Given the description of an element on the screen output the (x, y) to click on. 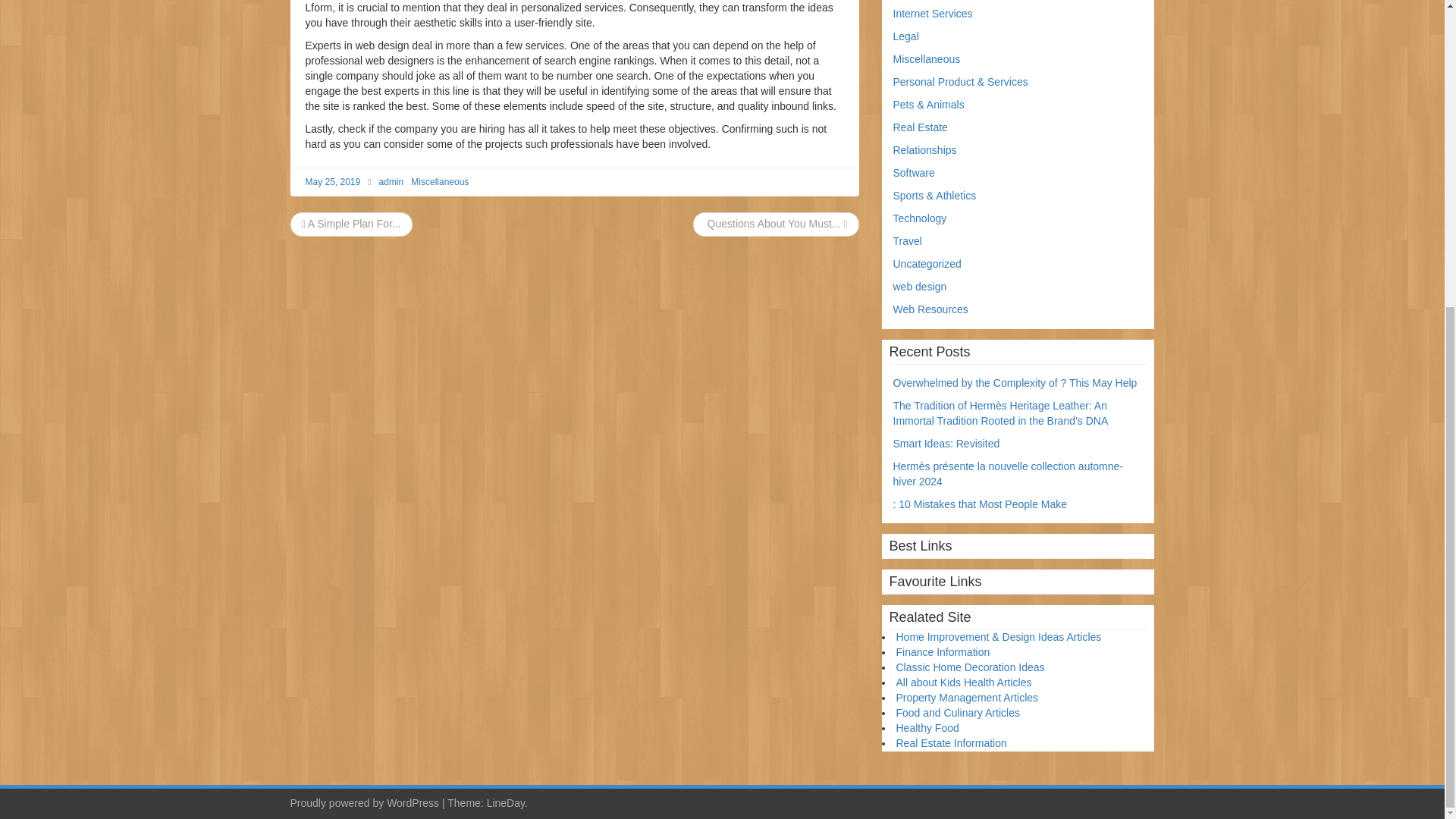
Miscellaneous (926, 59)
Software (913, 173)
web design (920, 286)
Overwhelmed by the Complexity of ? This May Help (1015, 382)
Internet Services (932, 13)
Real Estate (920, 127)
May 25, 2019 (331, 181)
Relationships (924, 150)
Web Resources (930, 309)
Legal (905, 36)
 Questions About You Must...  (775, 223)
Technology (920, 218)
Miscellaneous (439, 181)
admin (391, 181)
Uncategorized (926, 263)
